Given the description of an element on the screen output the (x, y) to click on. 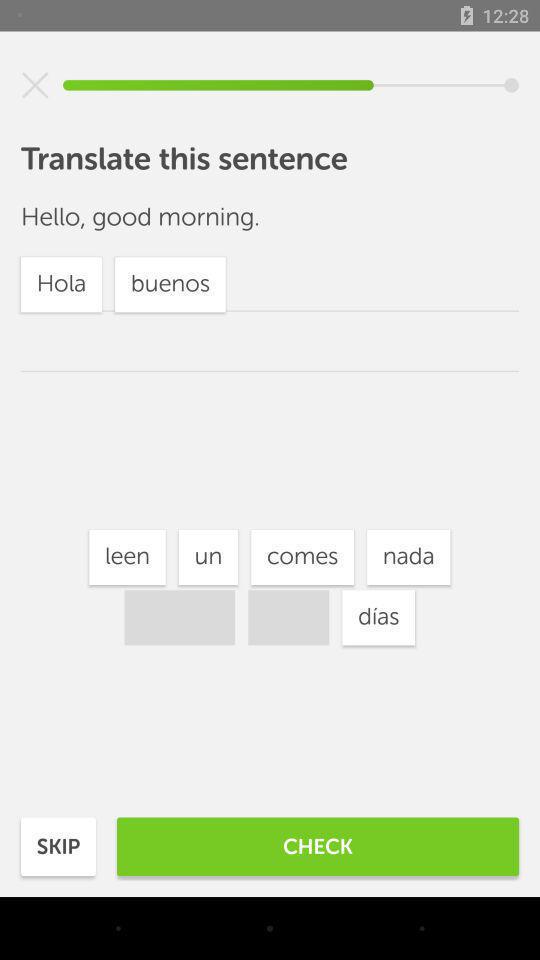
turn off item below the morning. (302, 557)
